Given the description of an element on the screen output the (x, y) to click on. 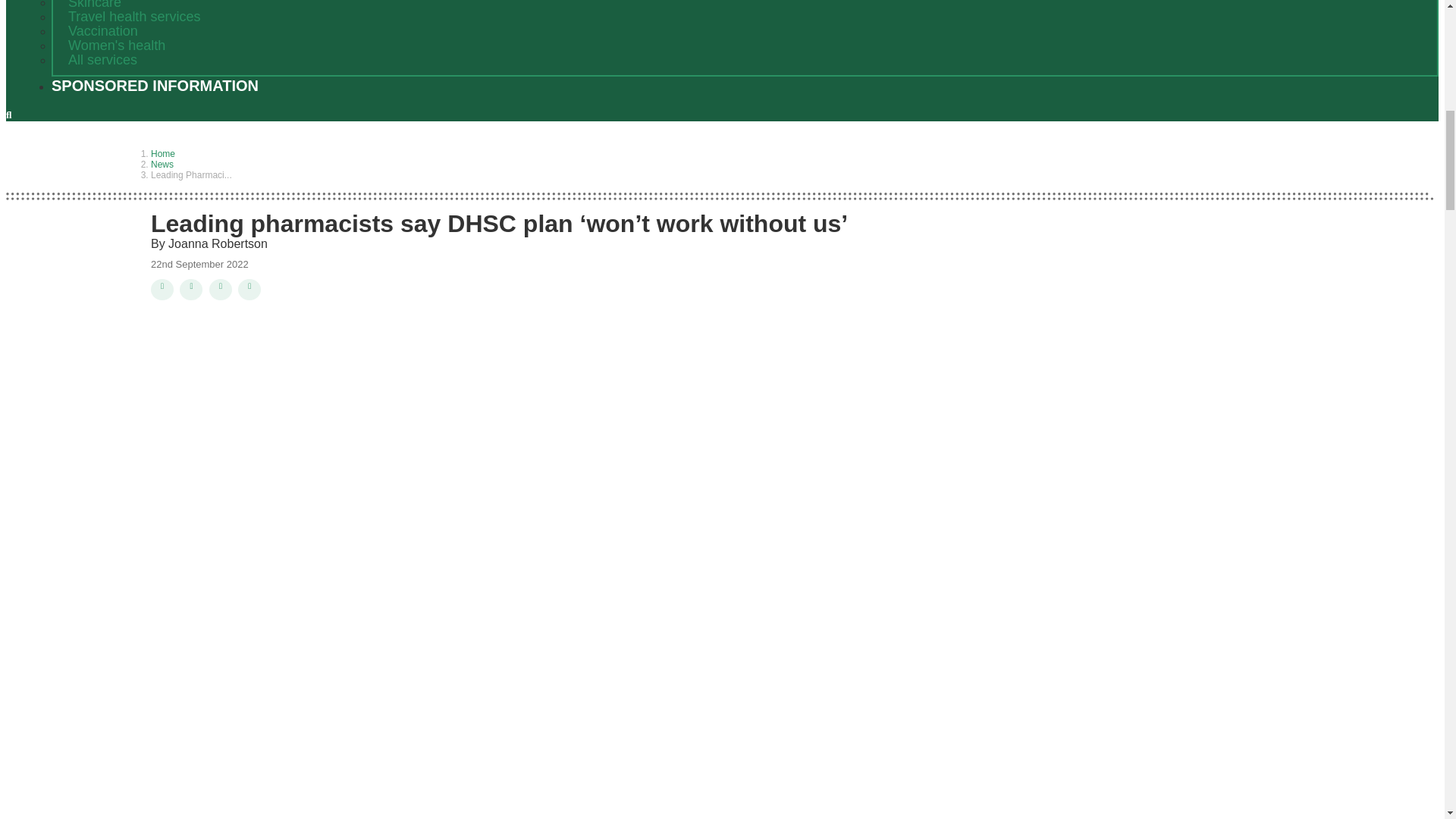
Share on Twitter (162, 289)
Home (162, 153)
Share on LinkedIn (190, 289)
Share via email (249, 289)
Share on Facebook (220, 289)
News (162, 163)
